Given the description of an element on the screen output the (x, y) to click on. 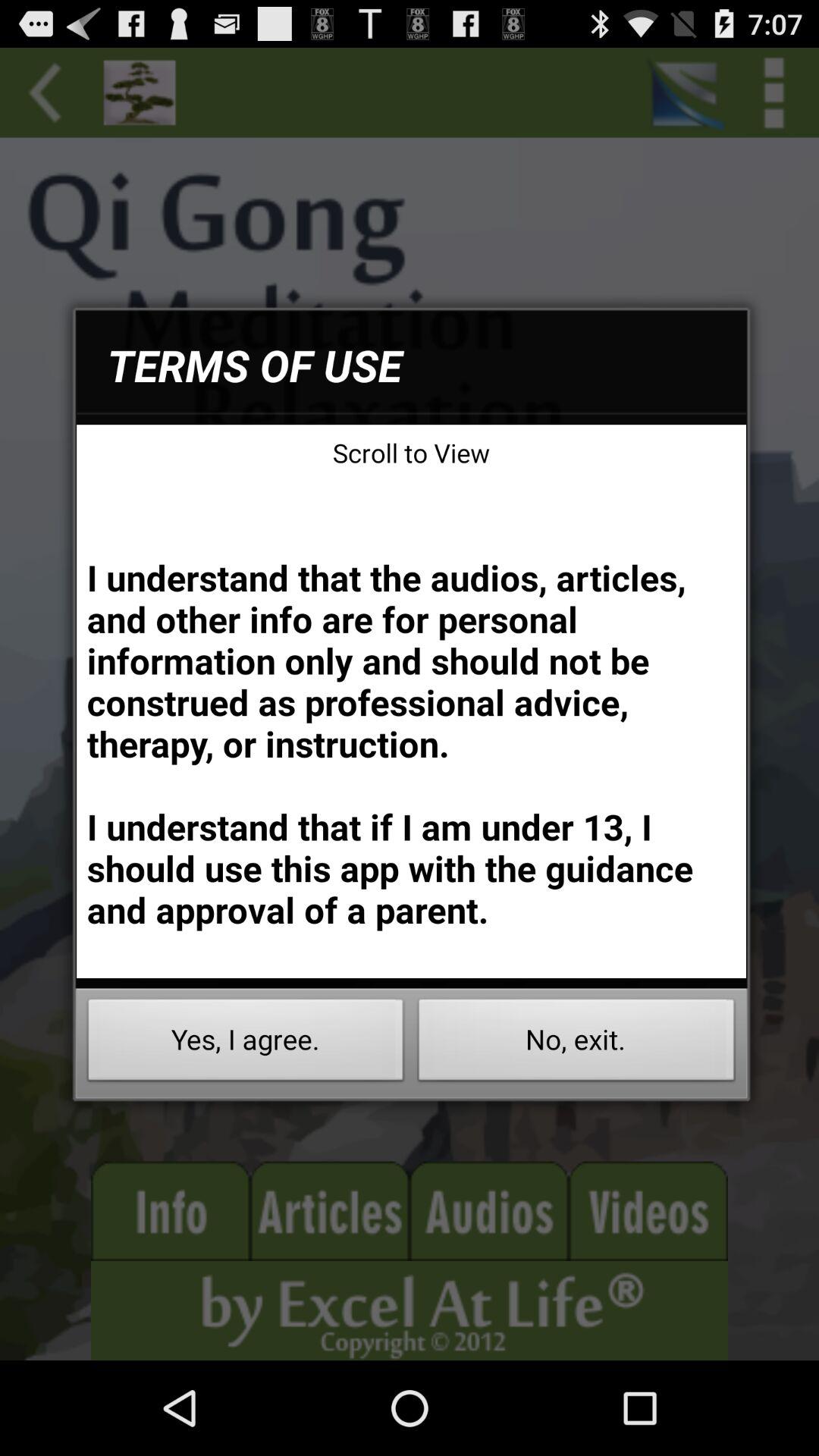
launch the icon next to yes, i agree. button (576, 1044)
